Given the description of an element on the screen output the (x, y) to click on. 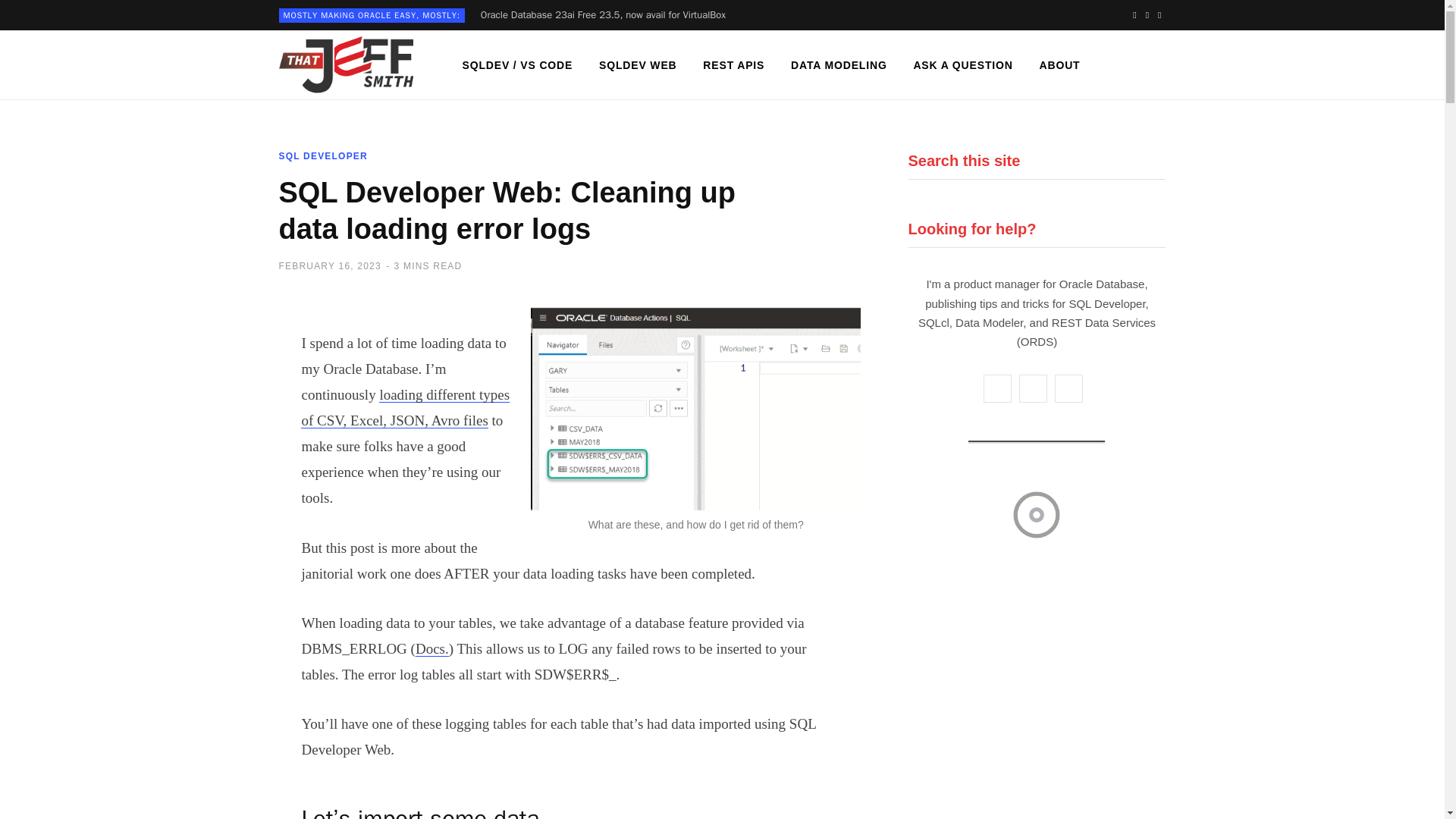
Who is Jeff? (1059, 65)
DATA MODELING (838, 65)
Who needs Reddit? AMA!  (962, 65)
ABOUT (1059, 65)
ThatJeffSmith (346, 65)
A Resource Page (516, 65)
Oracle Database 23ai Free 23.5, now avail for VirtualBox (606, 15)
ASK A QUESTION (962, 65)
loading different types of CSV, Excel, JSON, Avro files (405, 407)
Oracle Database 23ai Free 23.5, now avail for VirtualBox (606, 15)
